Given the description of an element on the screen output the (x, y) to click on. 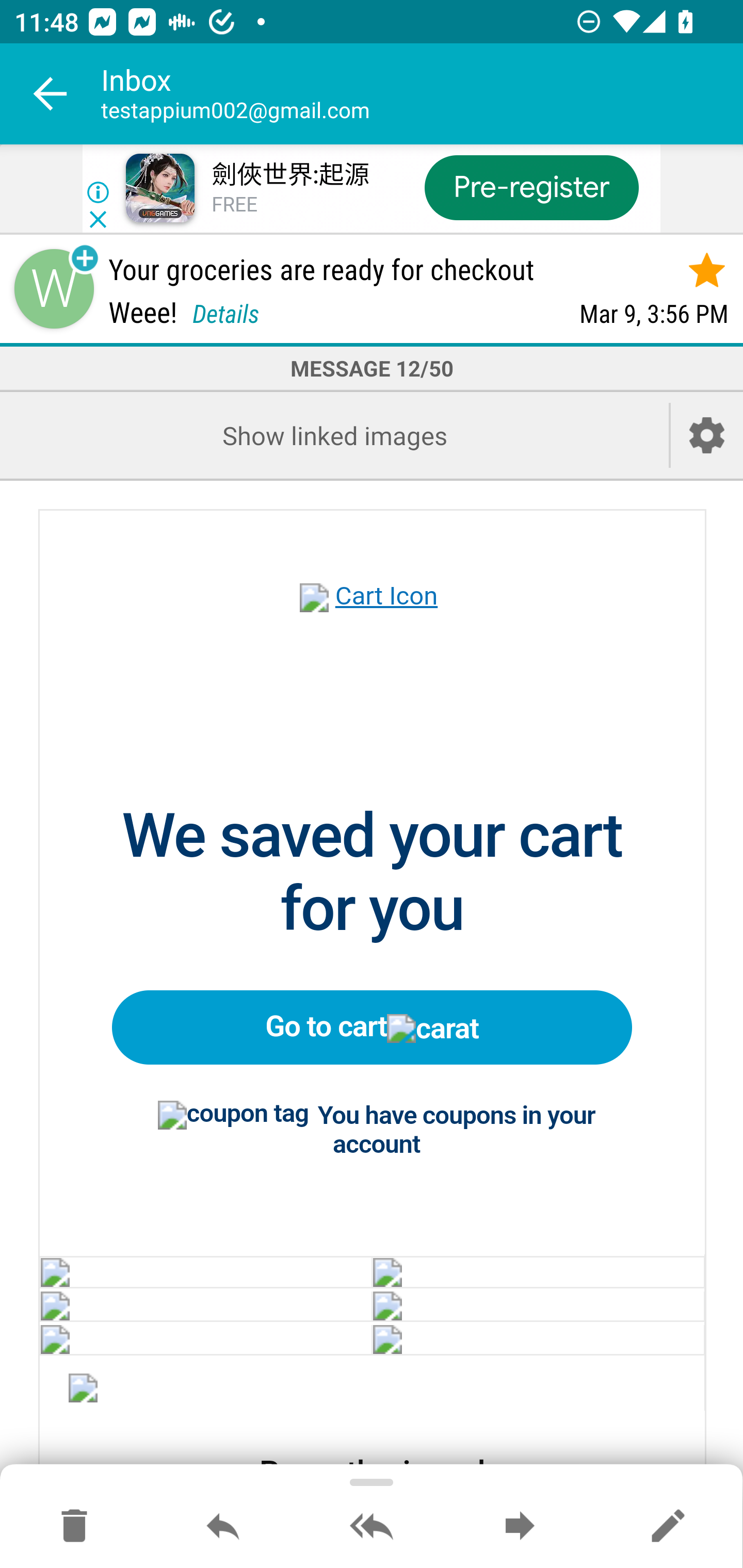
Navigate up (50, 93)
Inbox testappium002@gmail.com (422, 93)
Pre-register (530, 187)
劍俠世界:起源 (289, 175)
FREE (234, 204)
Sender contact button (53, 289)
Show linked images (334, 435)
Account setup (706, 435)
click?upn=u001 (372, 619)
data: (205, 1271)
data: (538, 1271)
data: (205, 1305)
data: (538, 1305)
data: (205, 1338)
data: (538, 1338)
data: (83, 1390)
Move to Deleted (74, 1527)
Reply (222, 1527)
Reply all (371, 1527)
Forward (519, 1527)
Reply as new (667, 1527)
